Given the description of an element on the screen output the (x, y) to click on. 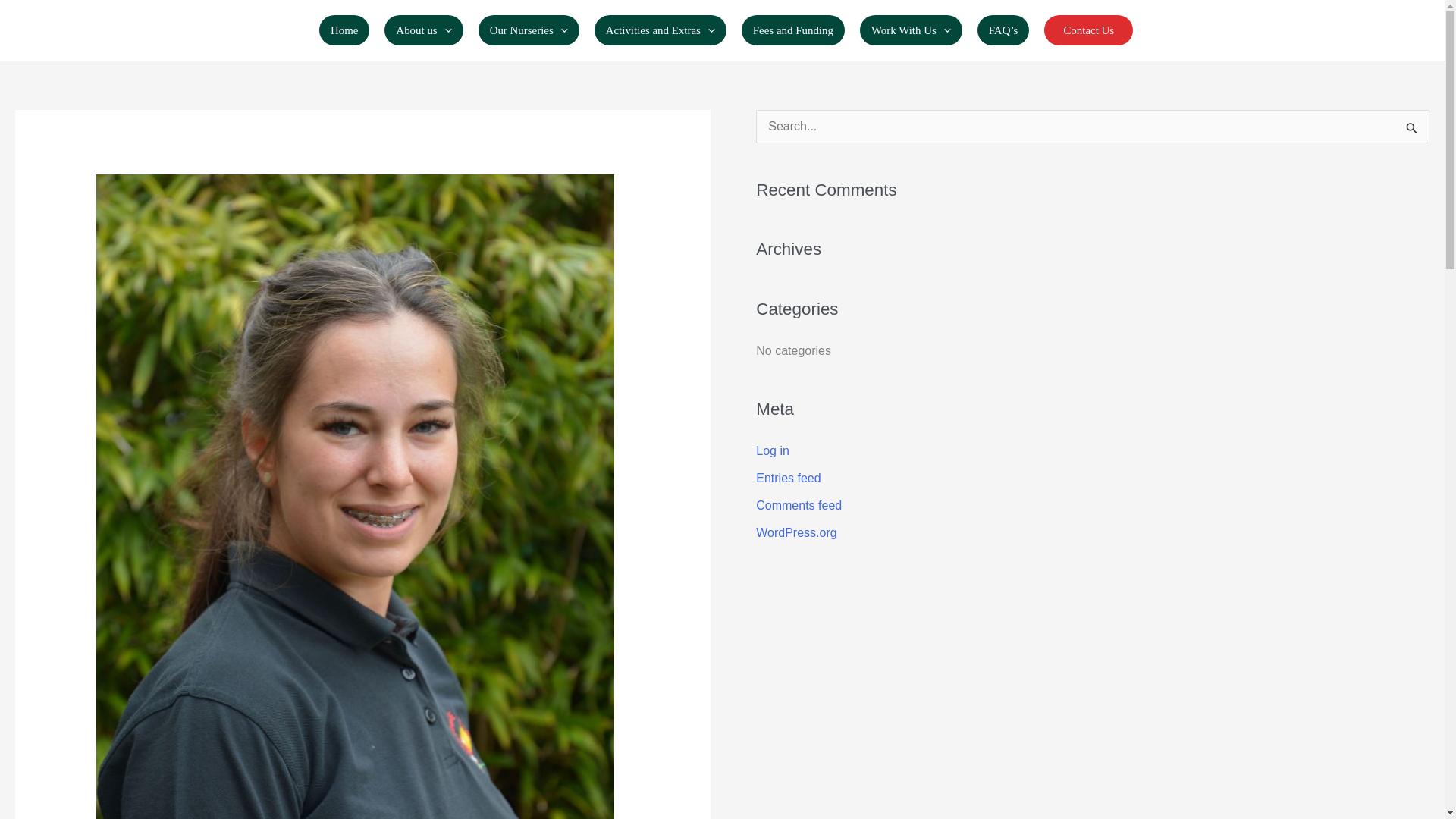
Search (1411, 130)
Activities and Extras (660, 30)
Work With Us (911, 30)
Contact Us (1087, 30)
Fees and Funding (792, 30)
Home (343, 30)
About us (423, 30)
Our Nurseries (529, 30)
Search (1411, 130)
